Given the description of an element on the screen output the (x, y) to click on. 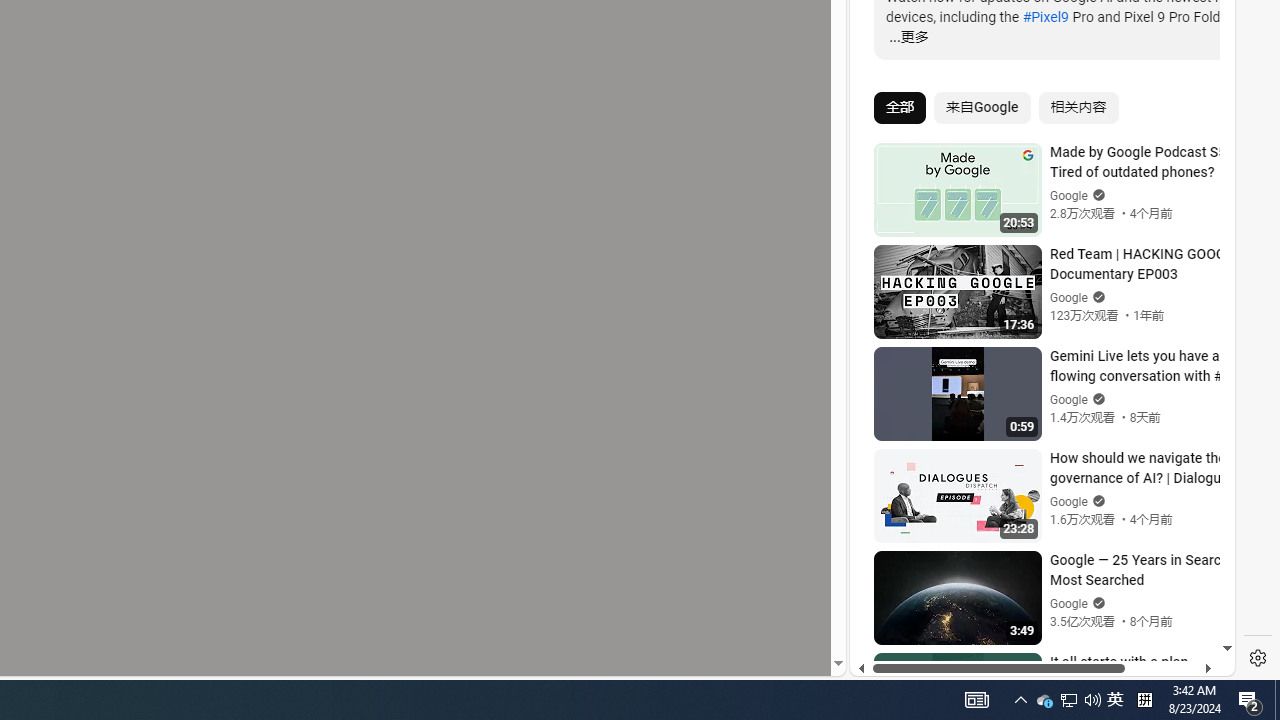
Class: dict_pnIcon rms_img (1028, 660)
Actions for this site (1131, 443)
#you (1034, 439)
YouTube - YouTube (1034, 266)
